Given the description of an element on the screen output the (x, y) to click on. 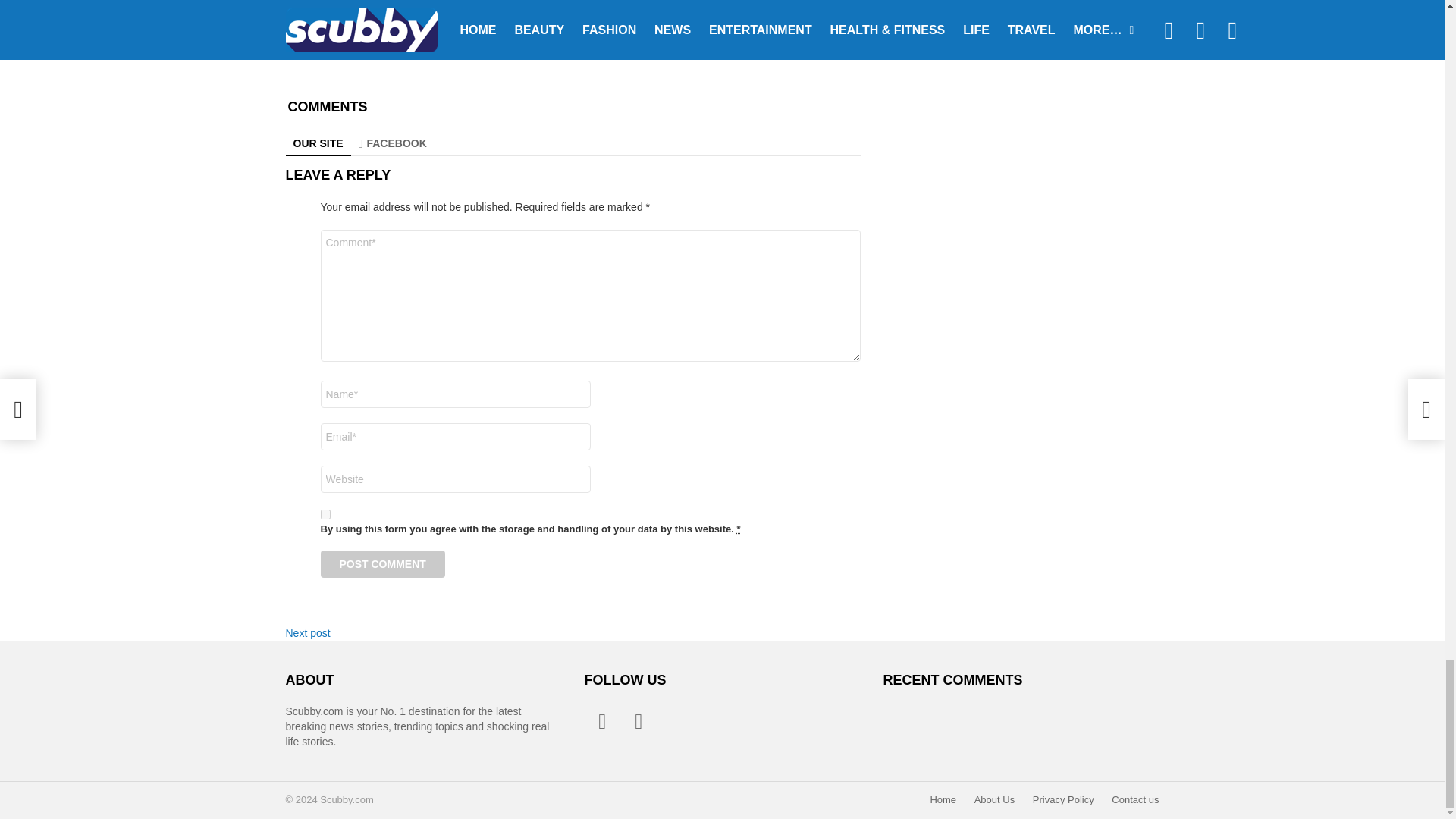
OUR SITE (317, 143)
Post Comment (382, 564)
1 (325, 514)
FACEBOOK (391, 143)
Post Comment (382, 564)
